Given the description of an element on the screen output the (x, y) to click on. 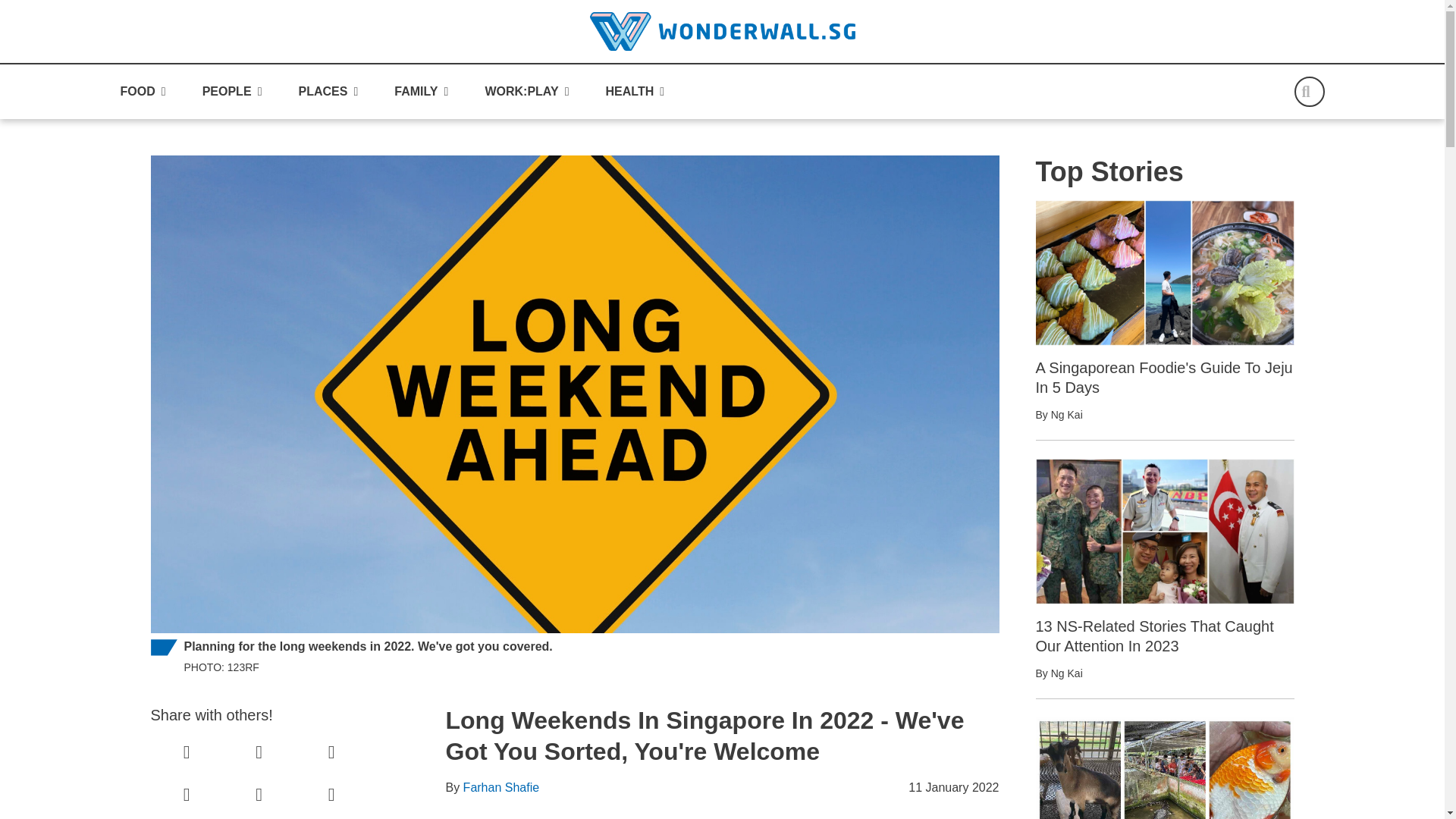
FOOD (142, 91)
WORK:PLAY (520, 91)
WORK:PLAY (526, 91)
Facebook (186, 752)
FAMILY (421, 91)
FAMILY (416, 91)
Telegram (186, 794)
A Singaporean Foodie's Guide To Jeju In 5 Days (1164, 272)
PLACES (328, 91)
Wonderwall.sg (722, 31)
FOOD (136, 91)
Twitter (330, 752)
LinkedIn (259, 752)
PEOPLE (232, 91)
